Given the description of an element on the screen output the (x, y) to click on. 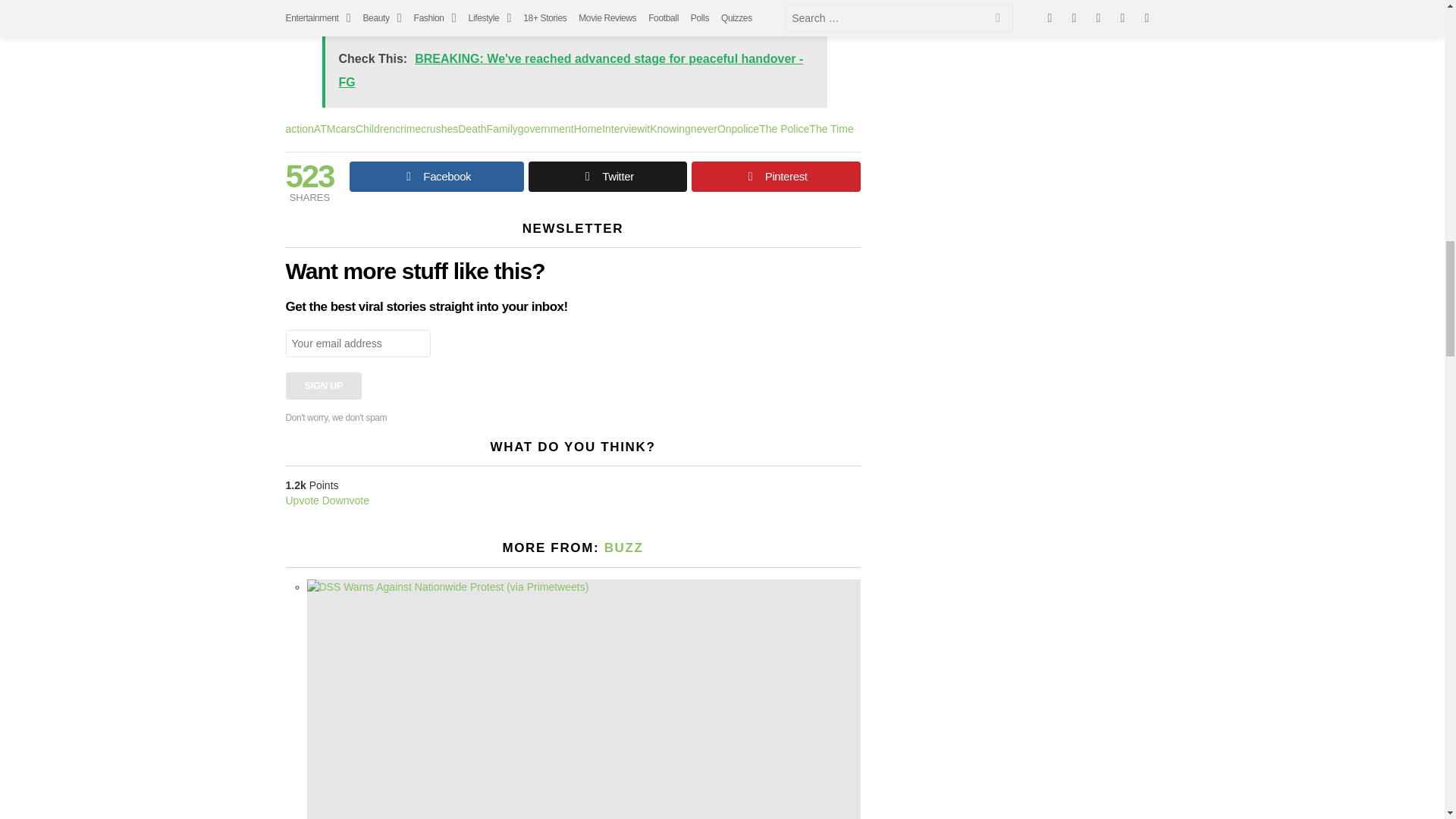
Sign up (323, 385)
